Given the description of an element on the screen output the (x, y) to click on. 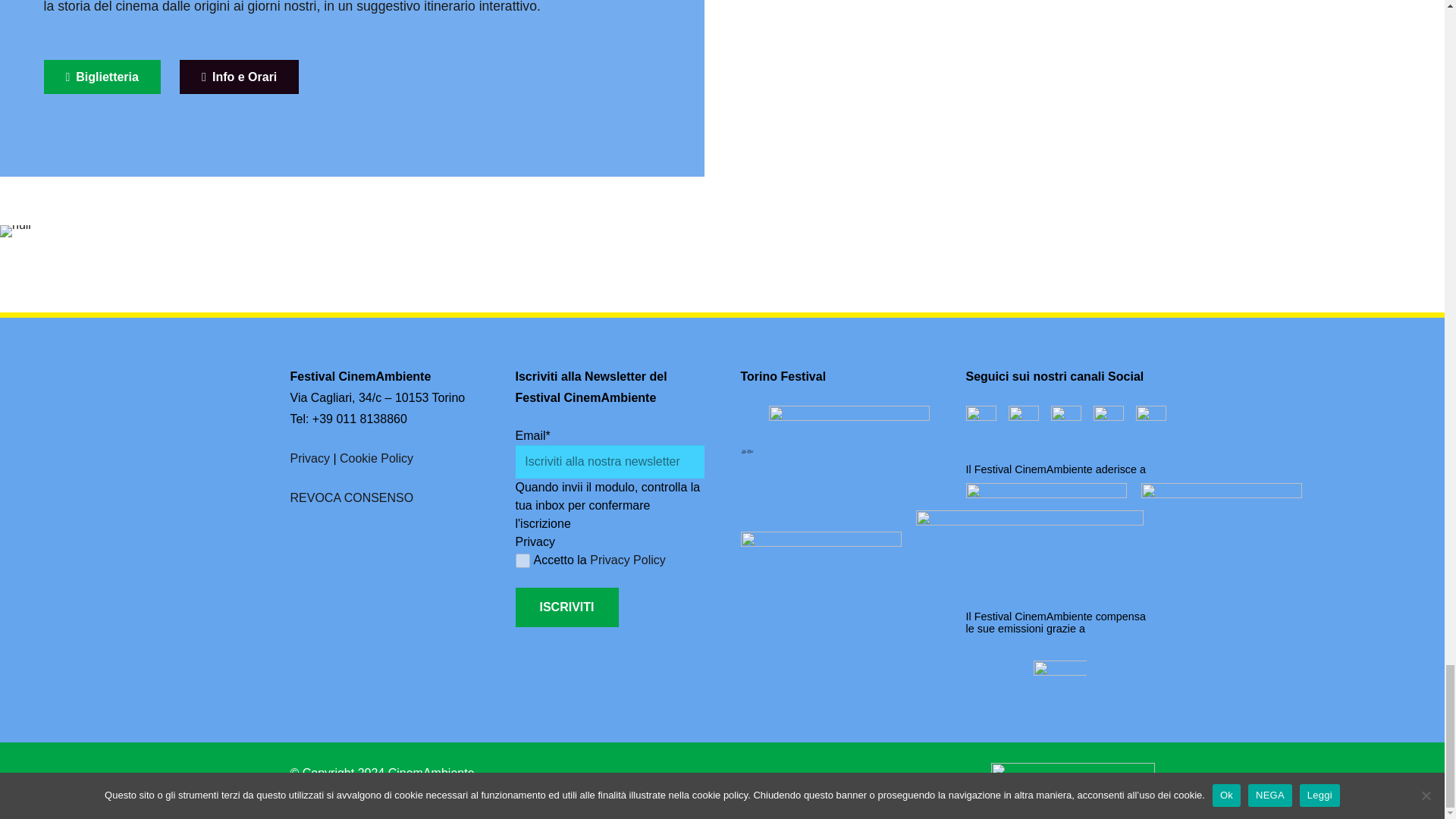
on (522, 560)
REVOCA CONSENSO (351, 497)
